Given the description of an element on the screen output the (x, y) to click on. 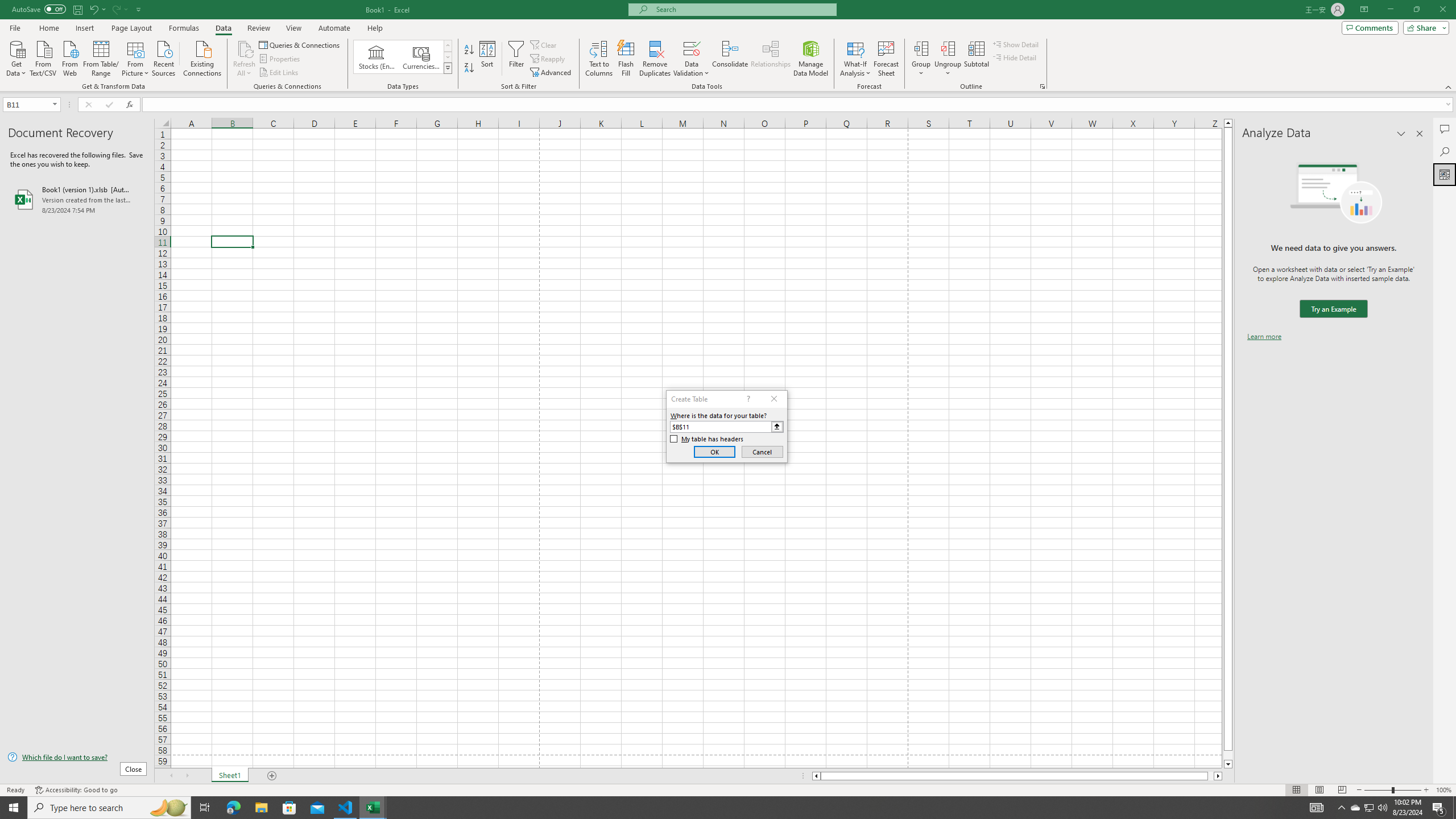
From Picture (135, 57)
Learn more (1264, 336)
